Given the description of an element on the screen output the (x, y) to click on. 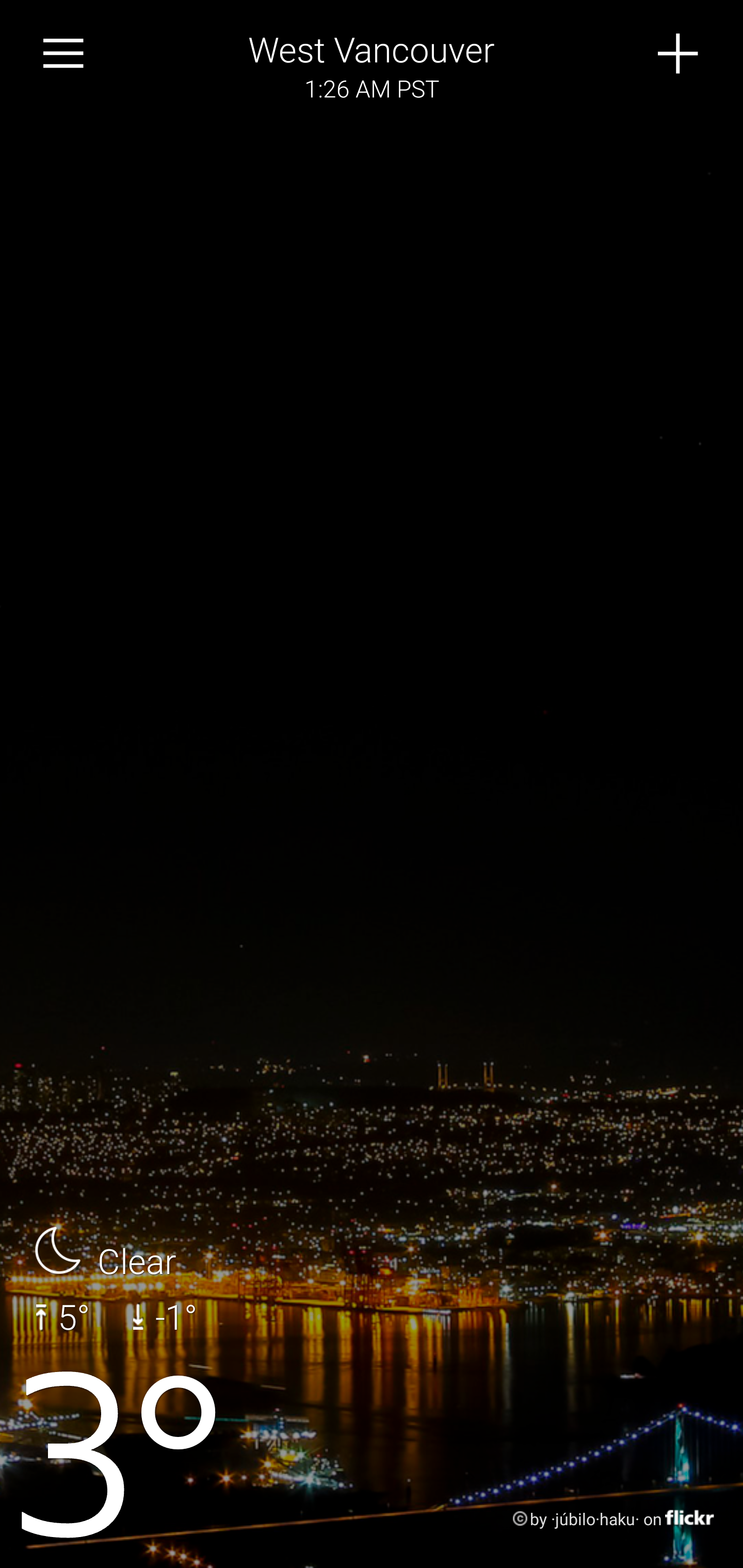
Sidebar (64, 54)
Add City (678, 53)
